Given the description of an element on the screen output the (x, y) to click on. 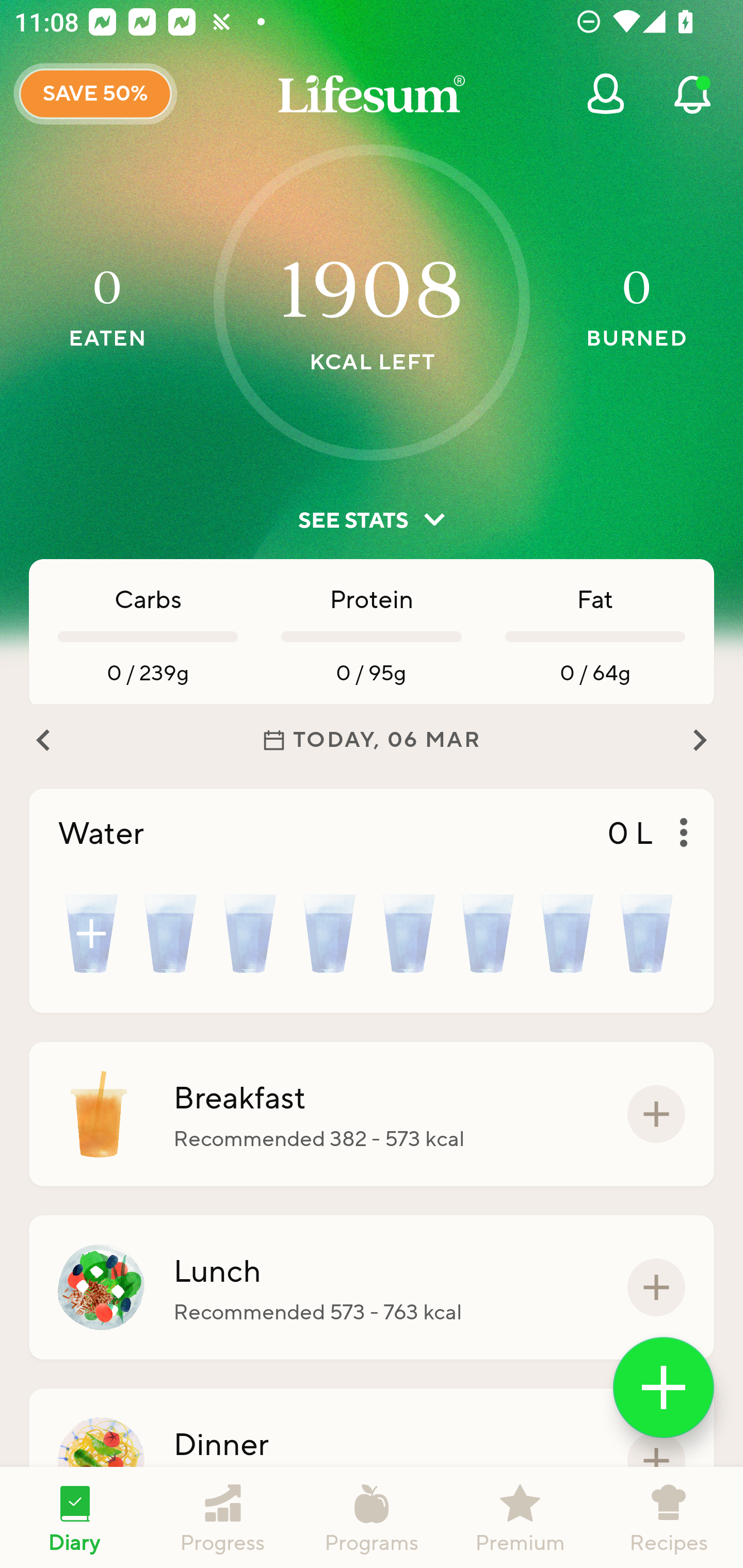
SEE STATS (371, 519)
TODAY, 06 MAR (371, 739)
Breakfast Recommended 382 - 573 kcal (371, 1113)
Lunch Recommended 573 - 763 kcal (371, 1287)
Dinner Recommended 573 - 763 kcal (371, 1461)
Progress (222, 1517)
Programs (371, 1517)
Premium (519, 1517)
Recipes (668, 1517)
